Given the description of an element on the screen output the (x, y) to click on. 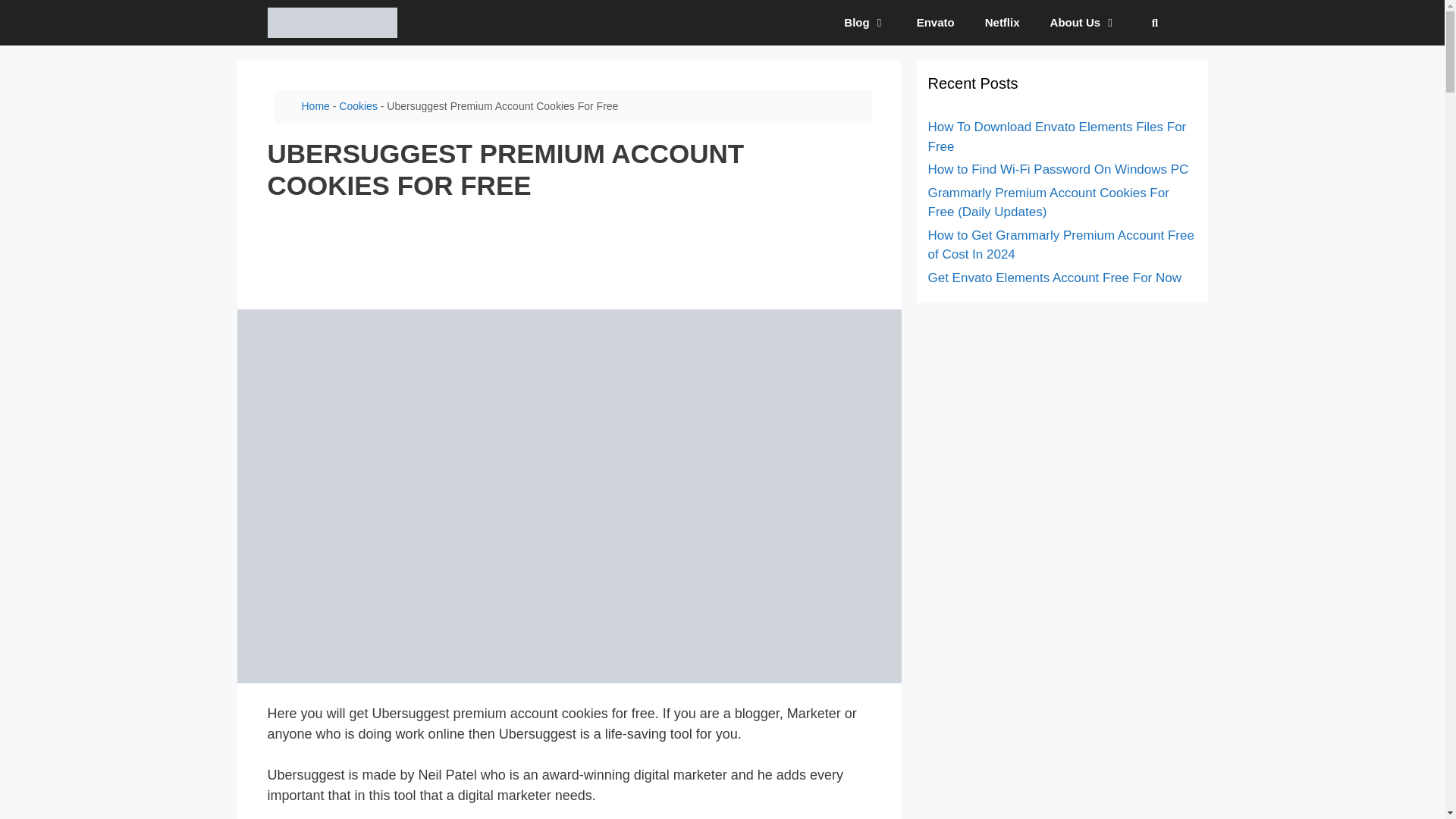
About Us (1083, 22)
Cookies (358, 105)
Ace Of Hacking (335, 22)
Blog (864, 22)
Ace Of Hacking (331, 22)
Home (315, 105)
Envato (935, 22)
Netflix (1002, 22)
